Given the description of an element on the screen output the (x, y) to click on. 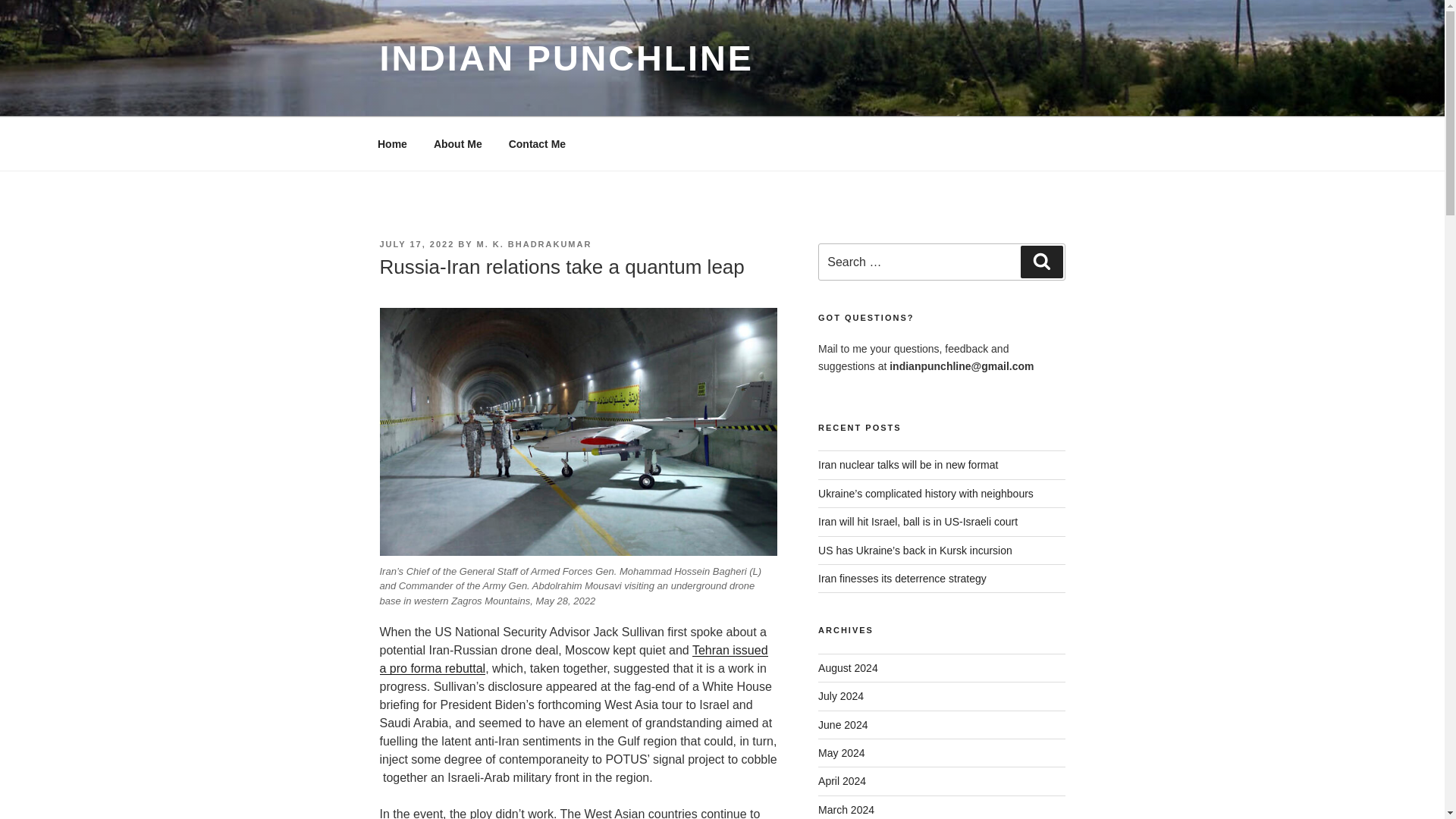
Contact Me (536, 144)
Tehran issued a pro forma rebuttal (572, 658)
March 2024 (846, 809)
Search (1041, 261)
May 2024 (841, 752)
INDIAN PUNCHLINE (565, 57)
June 2024 (842, 725)
July 2024 (840, 695)
Home (392, 144)
M. K. BHADRAKUMAR (533, 243)
